Given the description of an element on the screen output the (x, y) to click on. 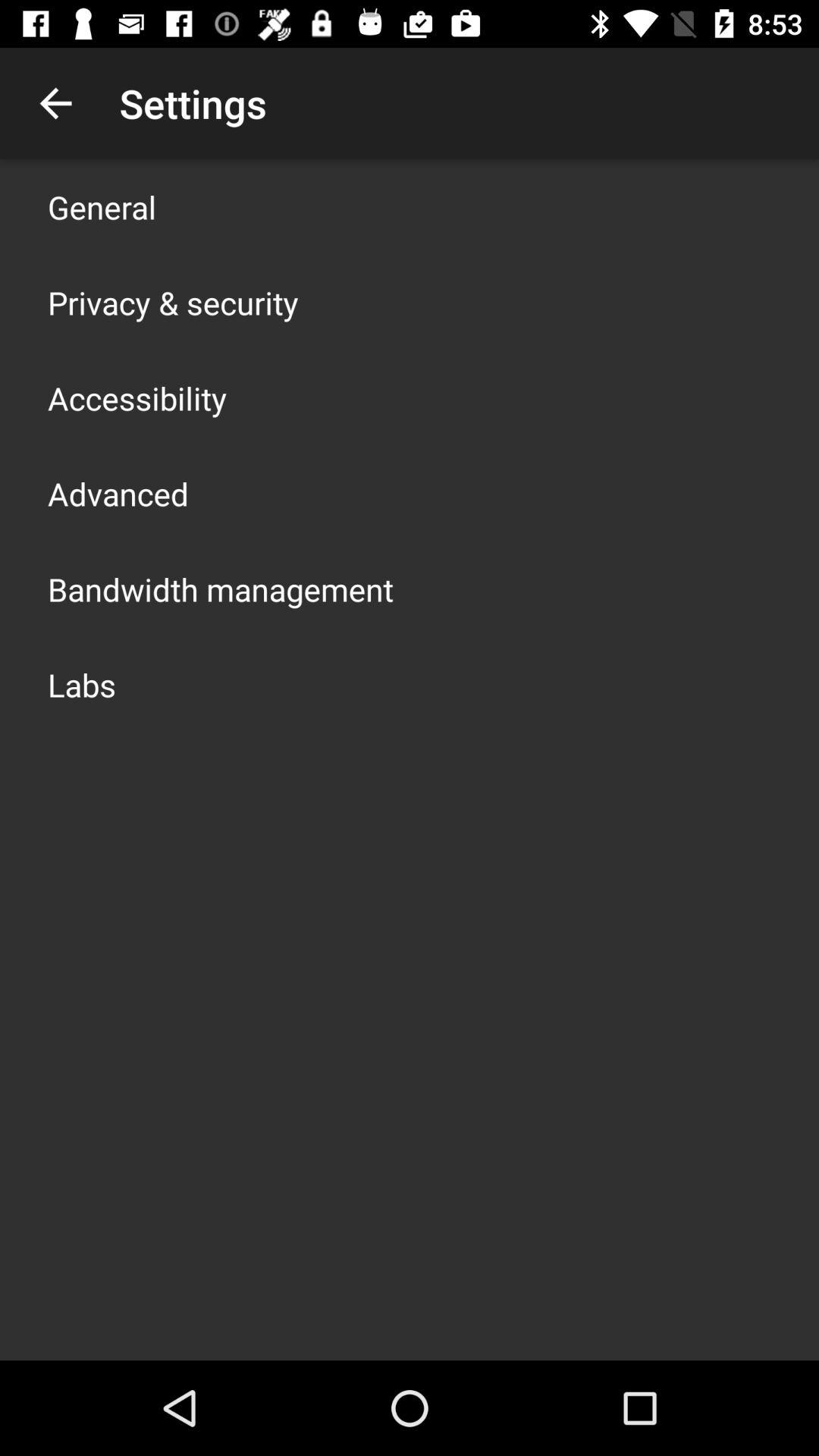
turn on the icon above the general (55, 103)
